Given the description of an element on the screen output the (x, y) to click on. 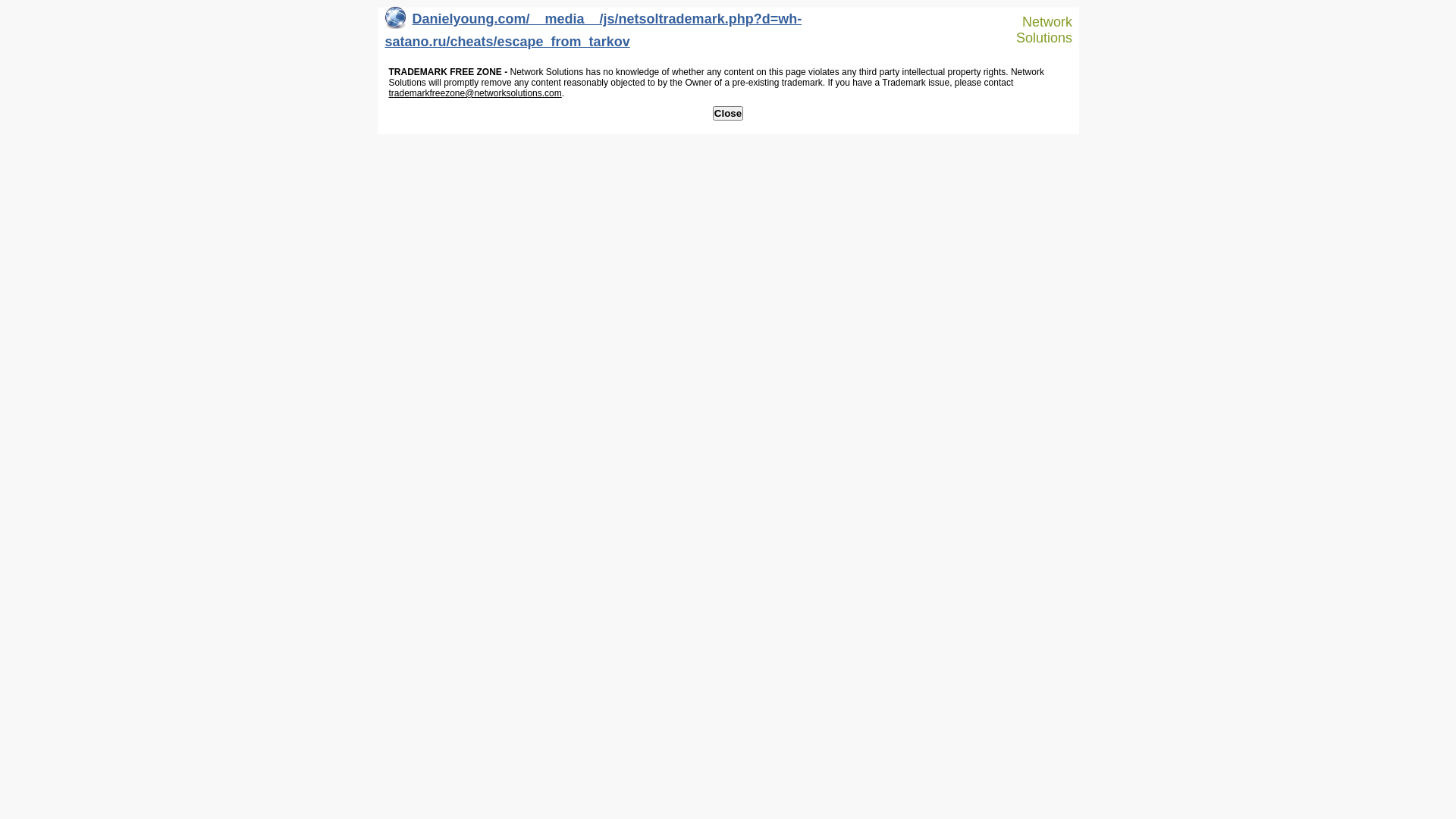
Network Solutions Element type: text (1037, 29)
Close Element type: text (727, 113)
trademarkfreezone@networksolutions.com Element type: text (474, 92)
